Given the description of an element on the screen output the (x, y) to click on. 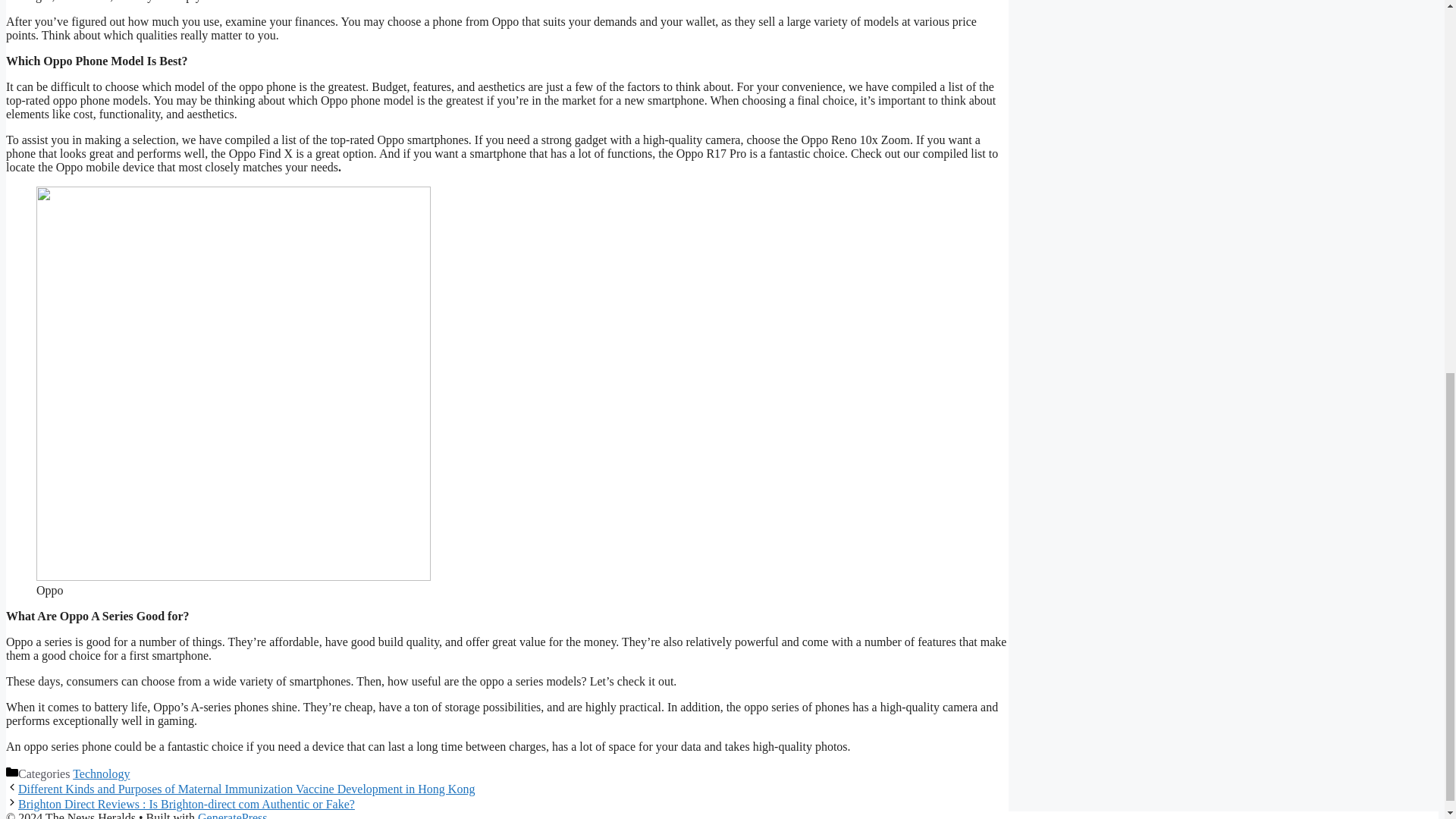
Technology (100, 773)
